Given the description of an element on the screen output the (x, y) to click on. 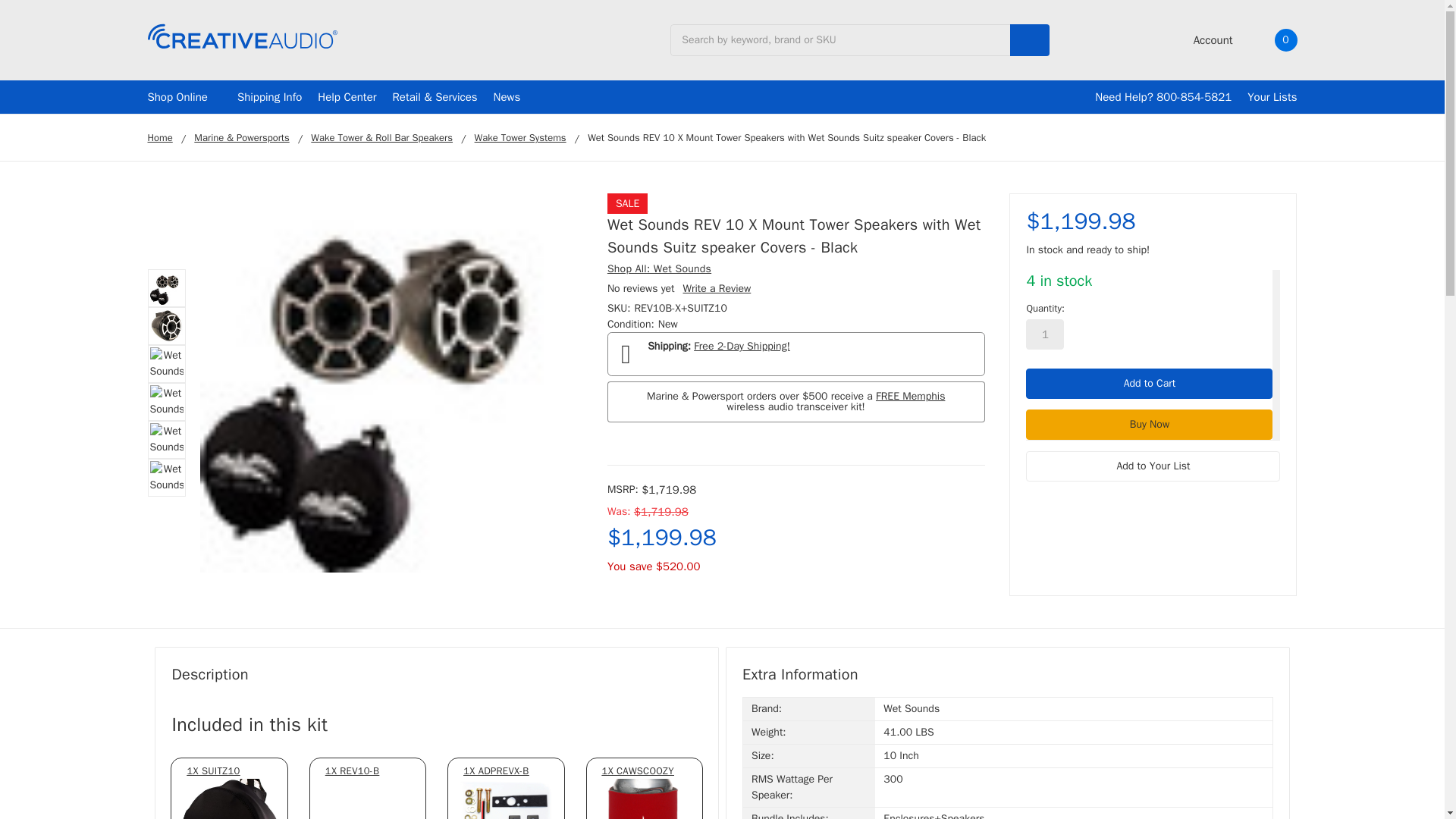
Buy Now (1149, 424)
1 (1045, 334)
Shop Online (184, 96)
Creative Audio (241, 35)
Add to Cart (1149, 383)
Account (1203, 39)
